Given the description of an element on the screen output the (x, y) to click on. 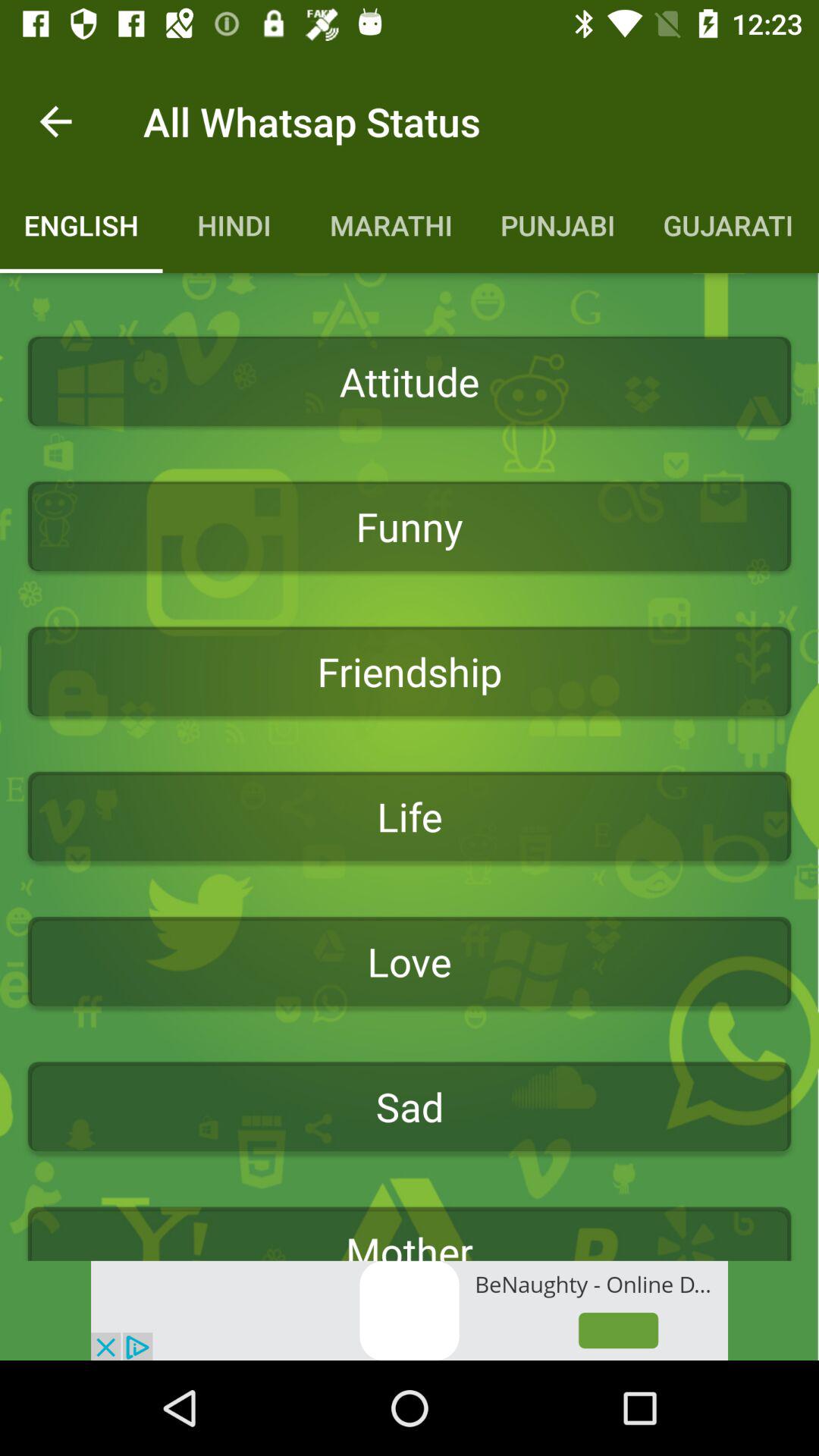
see the advertisement (409, 1310)
